Given the description of an element on the screen output the (x, y) to click on. 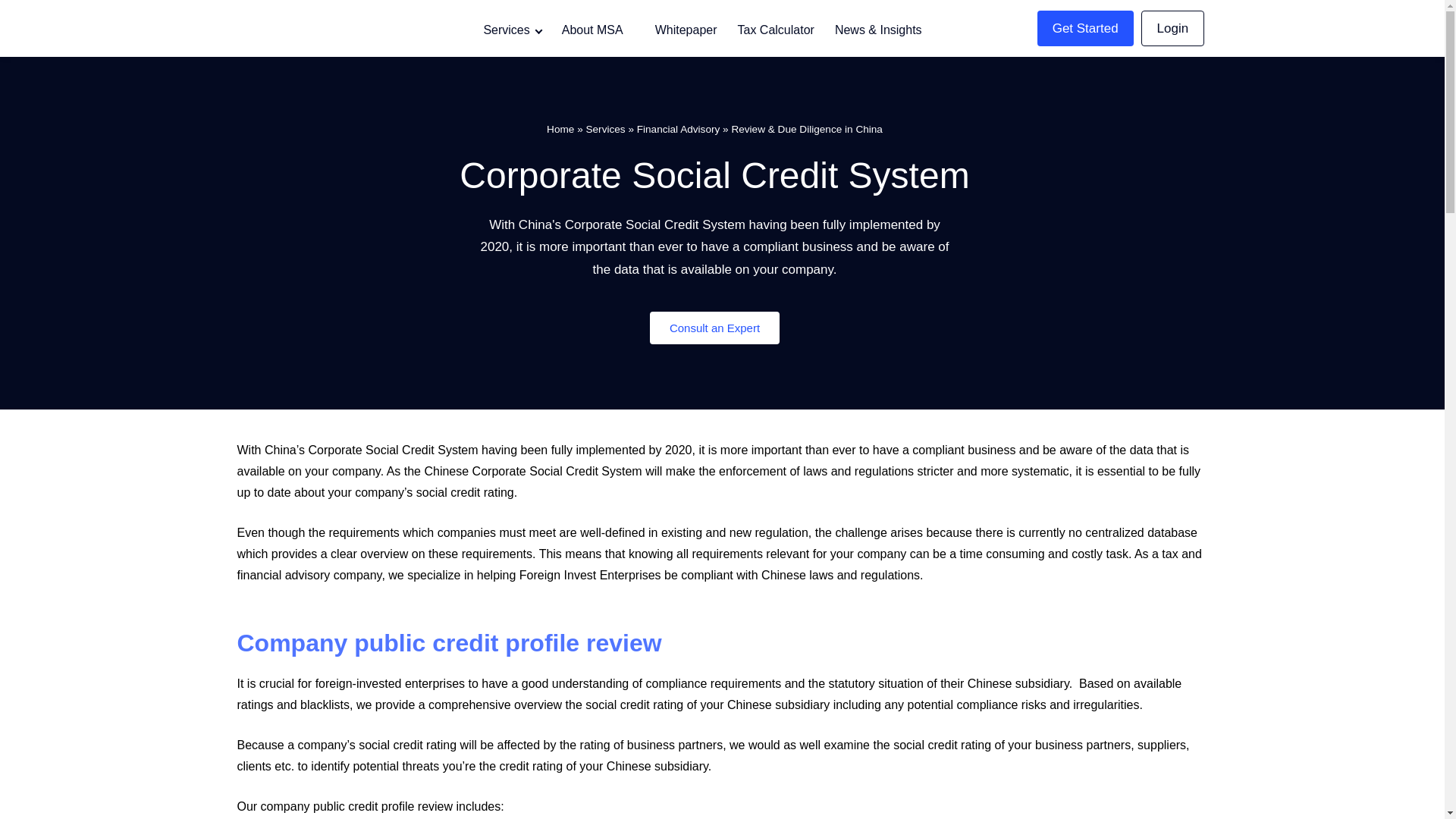
Tax Calculator (775, 29)
Whitepaper (686, 29)
About MSA (598, 29)
Services (511, 29)
